Given the description of an element on the screen output the (x, y) to click on. 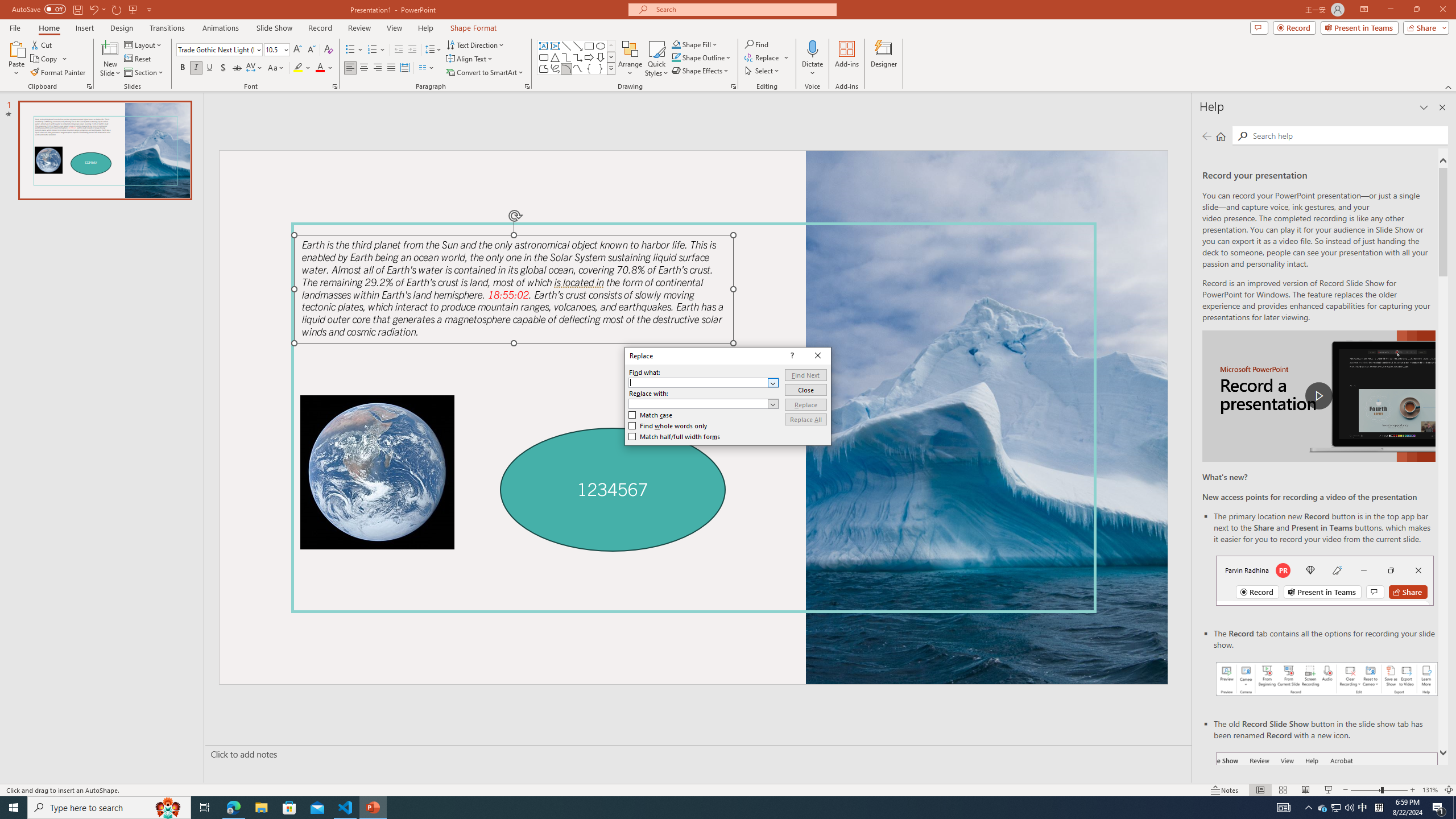
Connector: Elbow (566, 57)
